Given the description of an element on the screen output the (x, y) to click on. 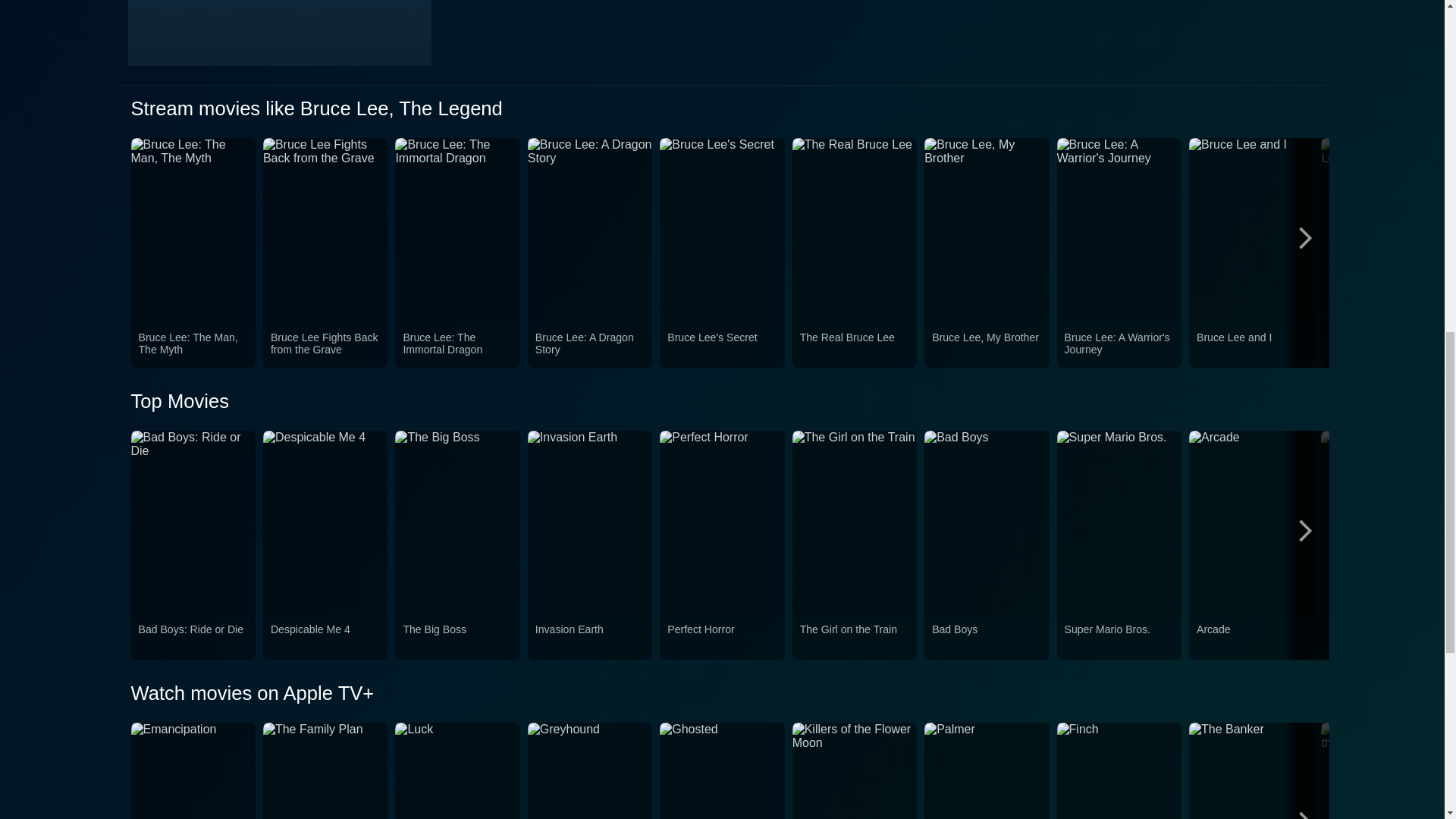
Bruce Lee: A Warrior's Journey (1118, 346)
Invasion Earth (590, 638)
Bruce Lee, My Brother (986, 346)
Bad Boys: Ride or Die (192, 638)
Bruce Lee: The Man, The Myth (192, 346)
Bruce Lee's Secret (721, 346)
Bruce Lee and I (1251, 346)
Bruce Lee: The Immortal Dragon (457, 346)
Bruce Lee: A Dragon Story (590, 346)
The Girl on the Train (853, 638)
The Big Boss (457, 638)
The Image of Bruce Lee (1382, 346)
Despicable Me 4 (325, 638)
The Real Bruce Lee (853, 346)
Perfect Horror (721, 638)
